Given the description of an element on the screen output the (x, y) to click on. 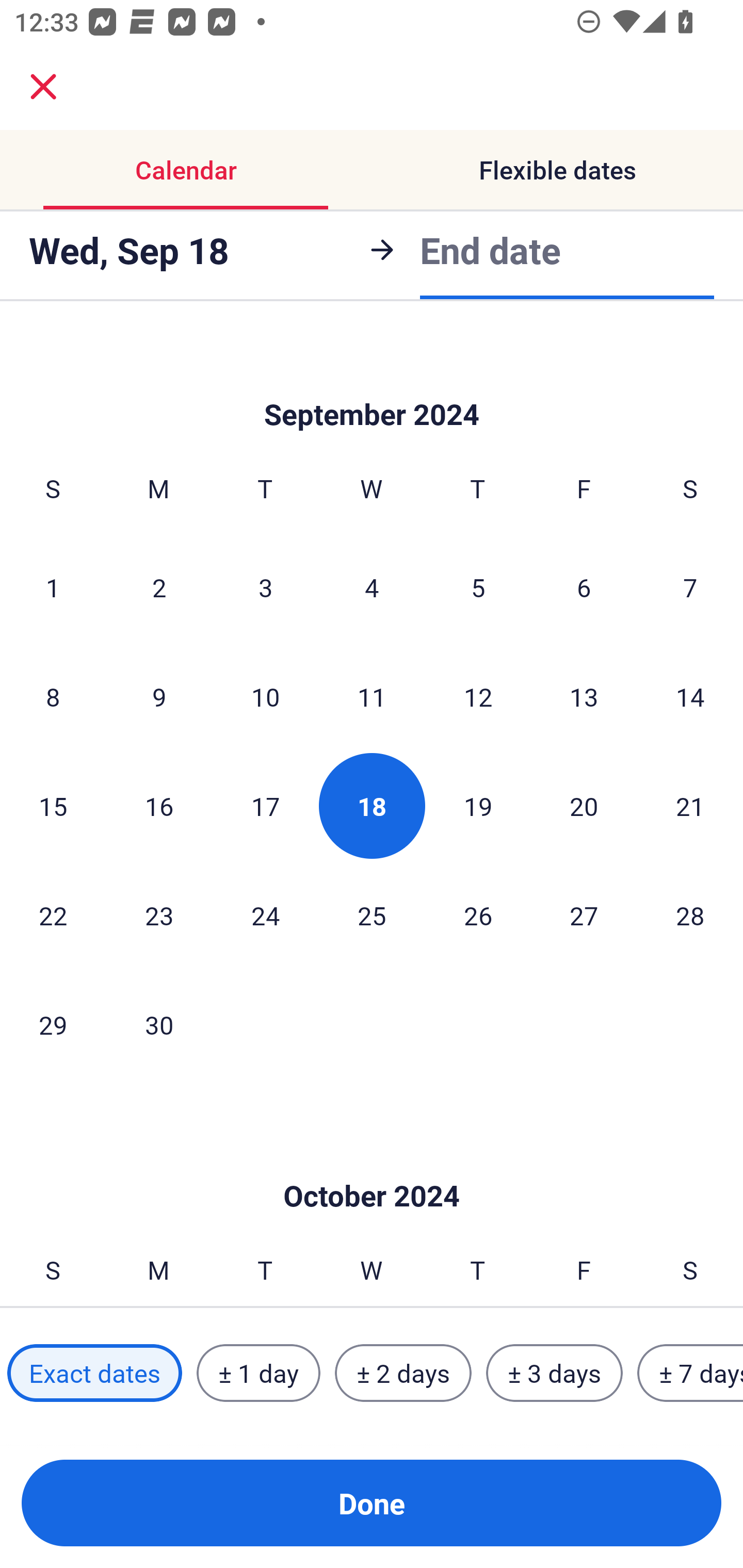
close. (43, 86)
Flexible dates (557, 170)
End date (489, 249)
Skip to Done (371, 383)
1 Sunday, September 1, 2024 (53, 586)
2 Monday, September 2, 2024 (159, 586)
3 Tuesday, September 3, 2024 (265, 586)
4 Wednesday, September 4, 2024 (371, 586)
5 Thursday, September 5, 2024 (477, 586)
6 Friday, September 6, 2024 (584, 586)
7 Saturday, September 7, 2024 (690, 586)
8 Sunday, September 8, 2024 (53, 696)
9 Monday, September 9, 2024 (159, 696)
10 Tuesday, September 10, 2024 (265, 696)
11 Wednesday, September 11, 2024 (371, 696)
12 Thursday, September 12, 2024 (477, 696)
13 Friday, September 13, 2024 (584, 696)
14 Saturday, September 14, 2024 (690, 696)
15 Sunday, September 15, 2024 (53, 805)
16 Monday, September 16, 2024 (159, 805)
17 Tuesday, September 17, 2024 (265, 805)
19 Thursday, September 19, 2024 (477, 805)
20 Friday, September 20, 2024 (584, 805)
21 Saturday, September 21, 2024 (690, 805)
22 Sunday, September 22, 2024 (53, 914)
23 Monday, September 23, 2024 (159, 914)
24 Tuesday, September 24, 2024 (265, 914)
25 Wednesday, September 25, 2024 (371, 914)
26 Thursday, September 26, 2024 (477, 914)
27 Friday, September 27, 2024 (584, 914)
28 Saturday, September 28, 2024 (690, 914)
29 Sunday, September 29, 2024 (53, 1024)
30 Monday, September 30, 2024 (159, 1024)
Skip to Done (371, 1164)
Exact dates (94, 1372)
± 1 day (258, 1372)
± 2 days (403, 1372)
± 3 days (553, 1372)
± 7 days (690, 1372)
Done (371, 1502)
